Given the description of an element on the screen output the (x, y) to click on. 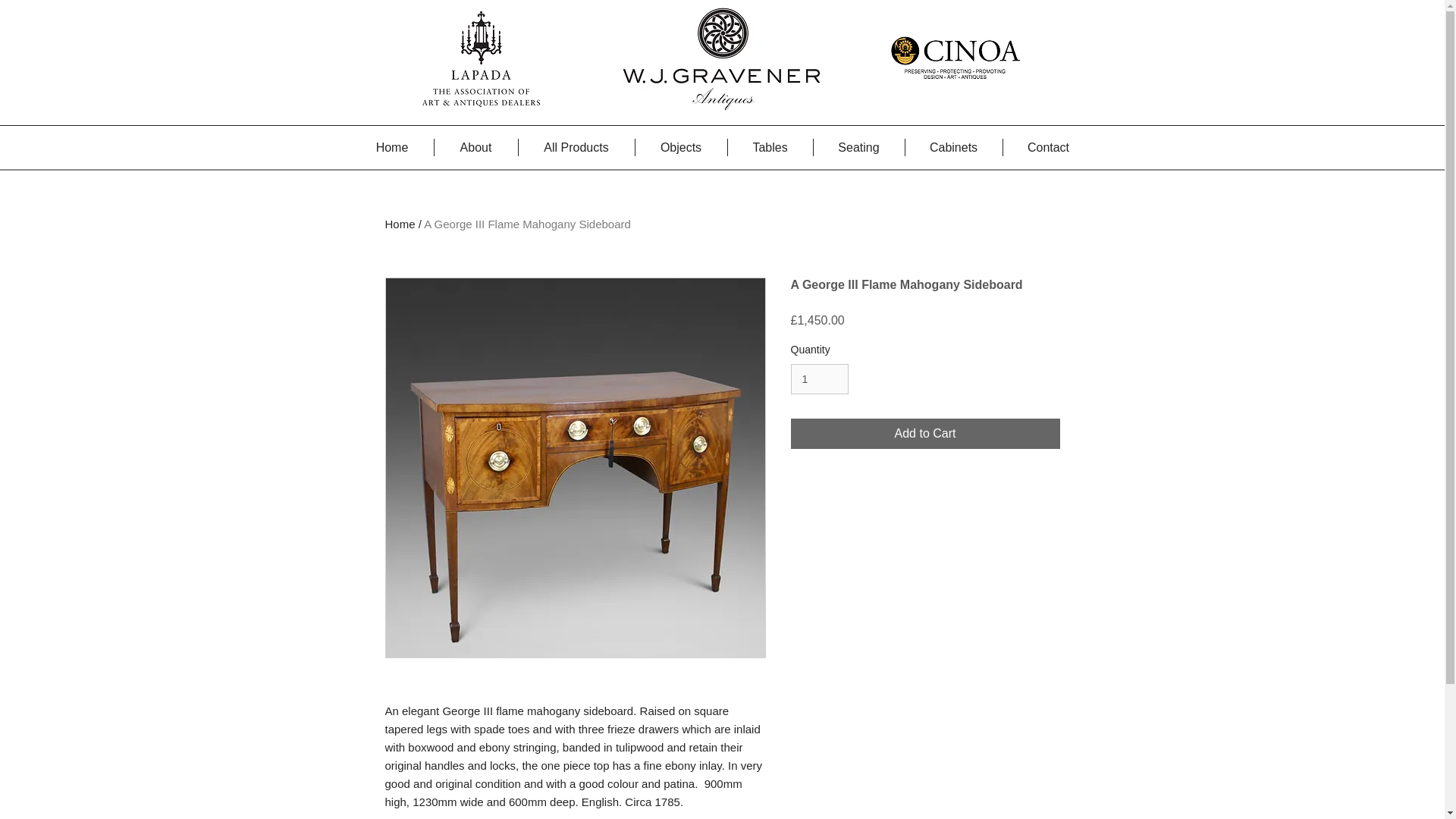
Cabinets (954, 147)
A George III Flame Mahogany Sideboard (526, 223)
Home (391, 147)
Seating (858, 147)
Contact (1048, 147)
Home (399, 223)
Tables (770, 147)
All Products (576, 147)
Add to Cart (924, 433)
About (474, 147)
